Given the description of an element on the screen output the (x, y) to click on. 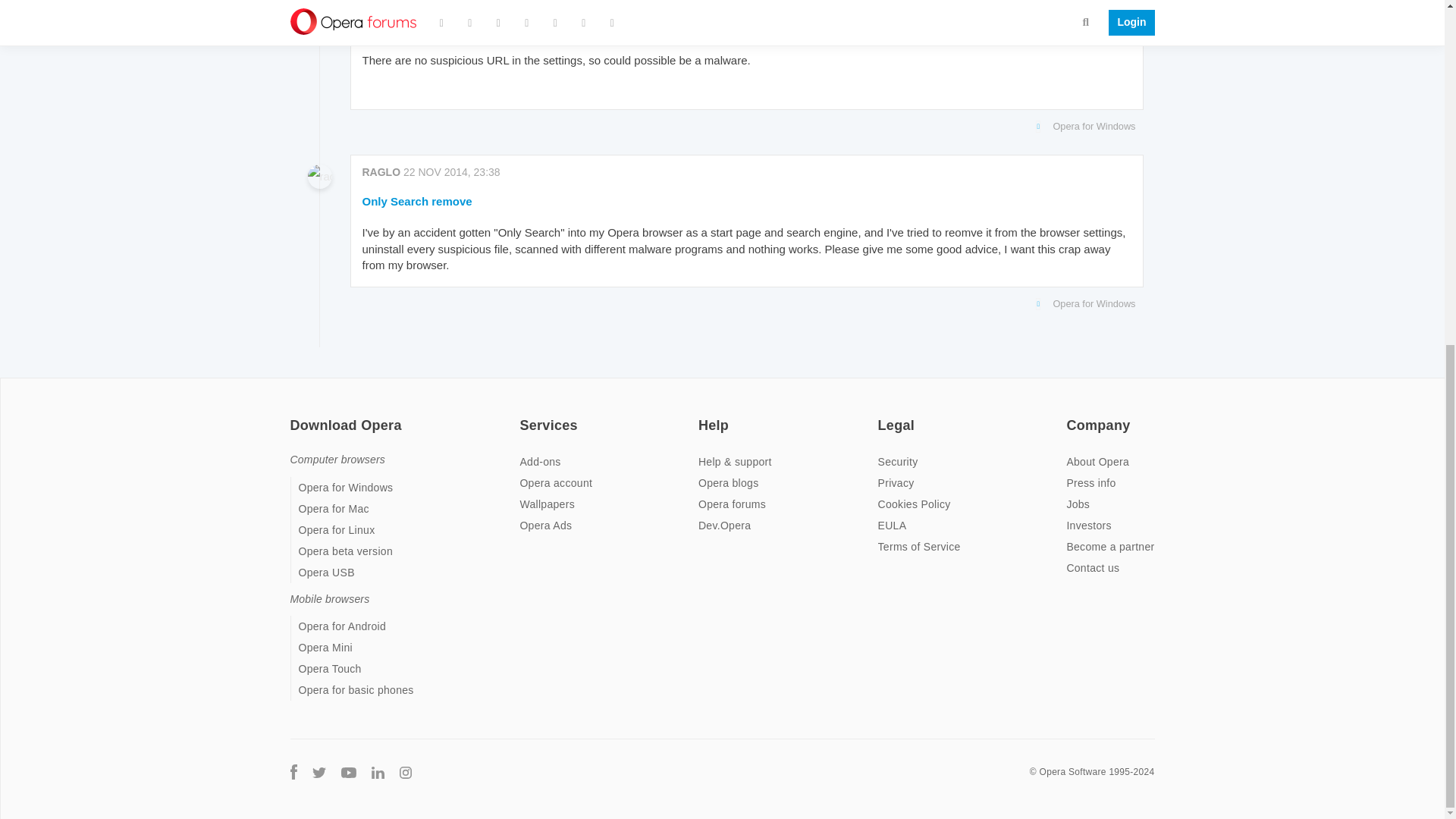
on (881, 415)
on (1070, 415)
on (293, 415)
on (702, 415)
on (523, 415)
